Given the description of an element on the screen output the (x, y) to click on. 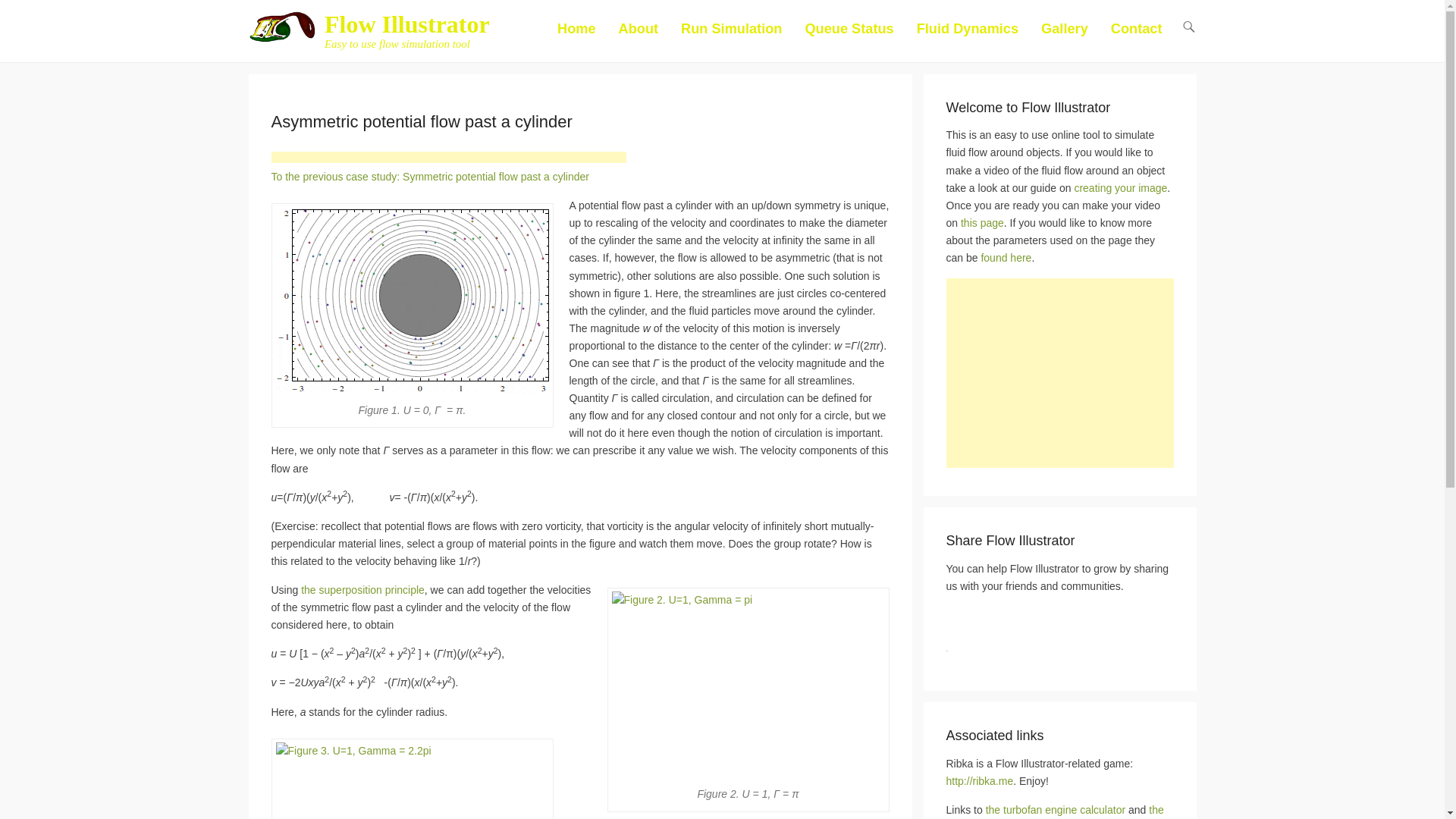
Gallery (1064, 37)
Symmetric potential flow past a cylinder (429, 176)
Permalink to Asymmetric potential flow past a cylinder (421, 121)
the superposition principle (363, 589)
Asymmetric potential flow past a cylinder (421, 121)
Flow Illustrator (406, 23)
Skip to content (585, 27)
Flow Illustrator (406, 23)
Skip to content (585, 27)
Potential flows (363, 589)
Queue Status (848, 37)
Fluid Dynamics (967, 37)
YouTube (1055, 618)
Email (1089, 618)
Twitter (990, 618)
